Given the description of an element on the screen output the (x, y) to click on. 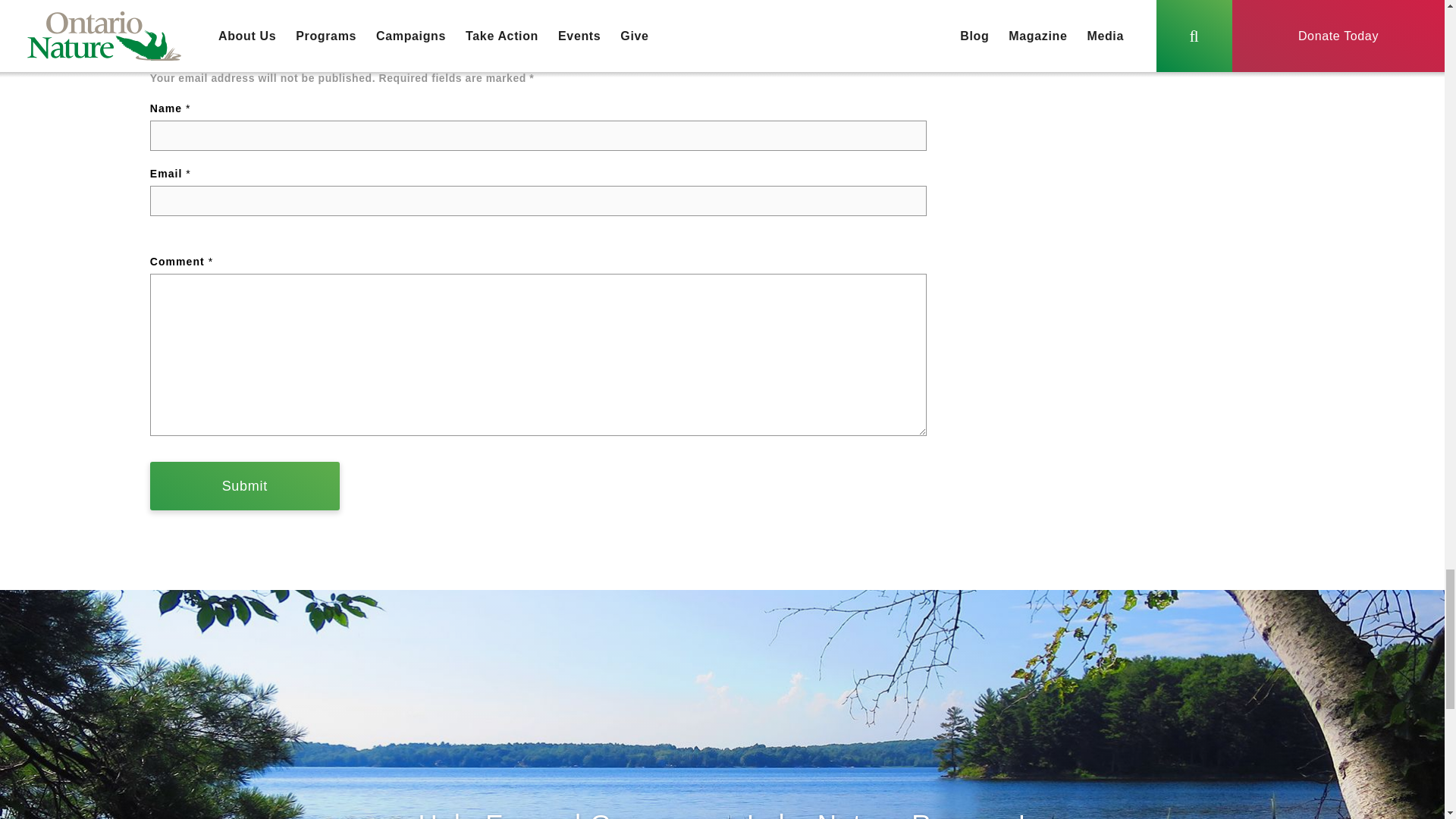
Submit (244, 485)
